Given the description of an element on the screen output the (x, y) to click on. 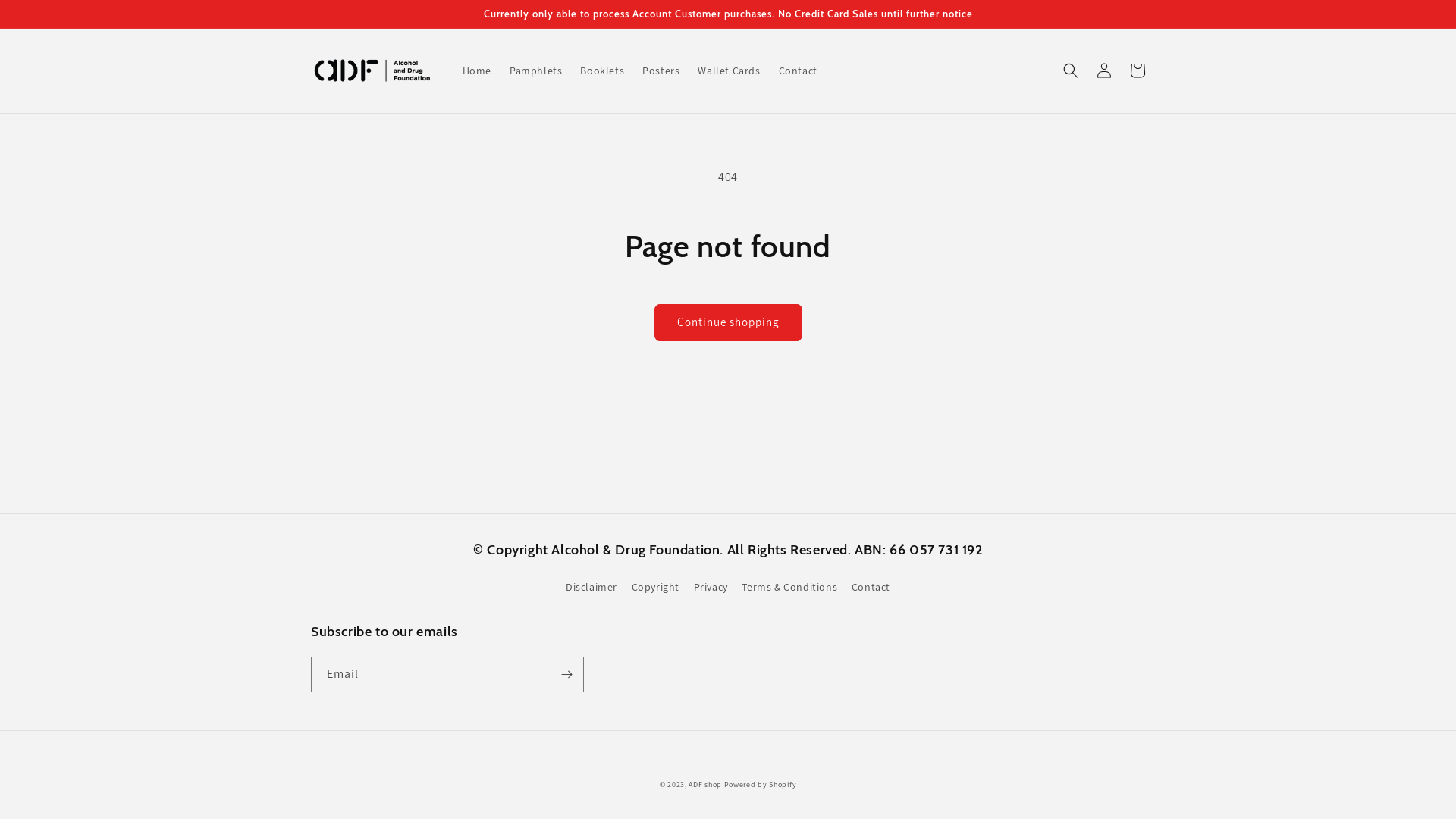
Continue shopping Element type: text (727, 322)
Cart Element type: text (1137, 70)
Posters Element type: text (660, 70)
Booklets Element type: text (602, 70)
ADF shop Element type: text (704, 784)
Pamphlets Element type: text (535, 70)
Privacy Element type: text (710, 587)
Contact Element type: text (870, 587)
Home Element type: text (476, 70)
Log in Element type: text (1103, 70)
Terms & Conditions Element type: text (789, 587)
Contact Element type: text (797, 70)
Copyright Element type: text (655, 587)
Wallet Cards Element type: text (728, 70)
Powered by Shopify Element type: text (760, 784)
Disclaimer Element type: text (591, 588)
